Given the description of an element on the screen output the (x, y) to click on. 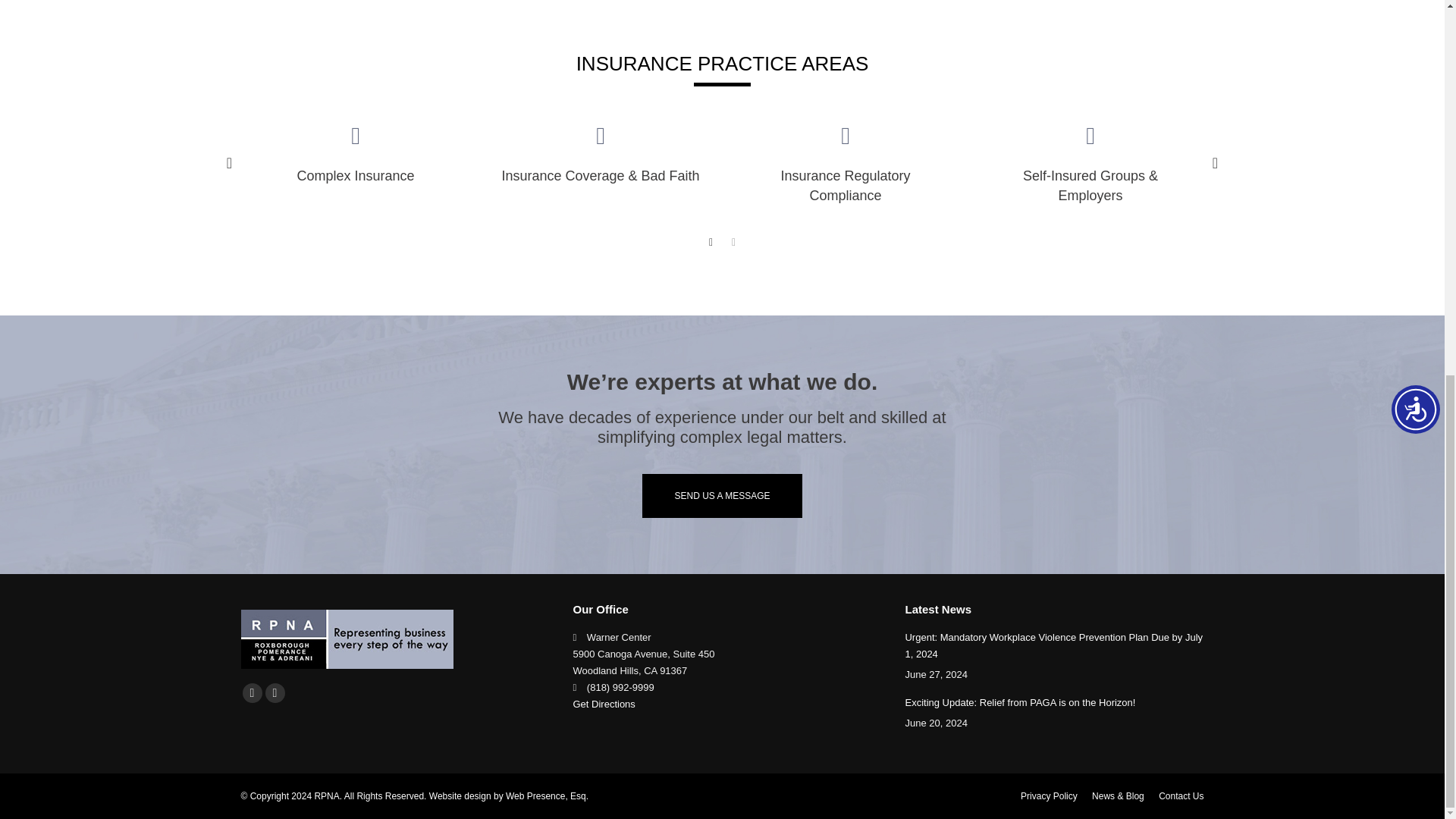
Linkedin page opens in new window (274, 692)
Facebook page opens in new window (252, 692)
